Given the description of an element on the screen output the (x, y) to click on. 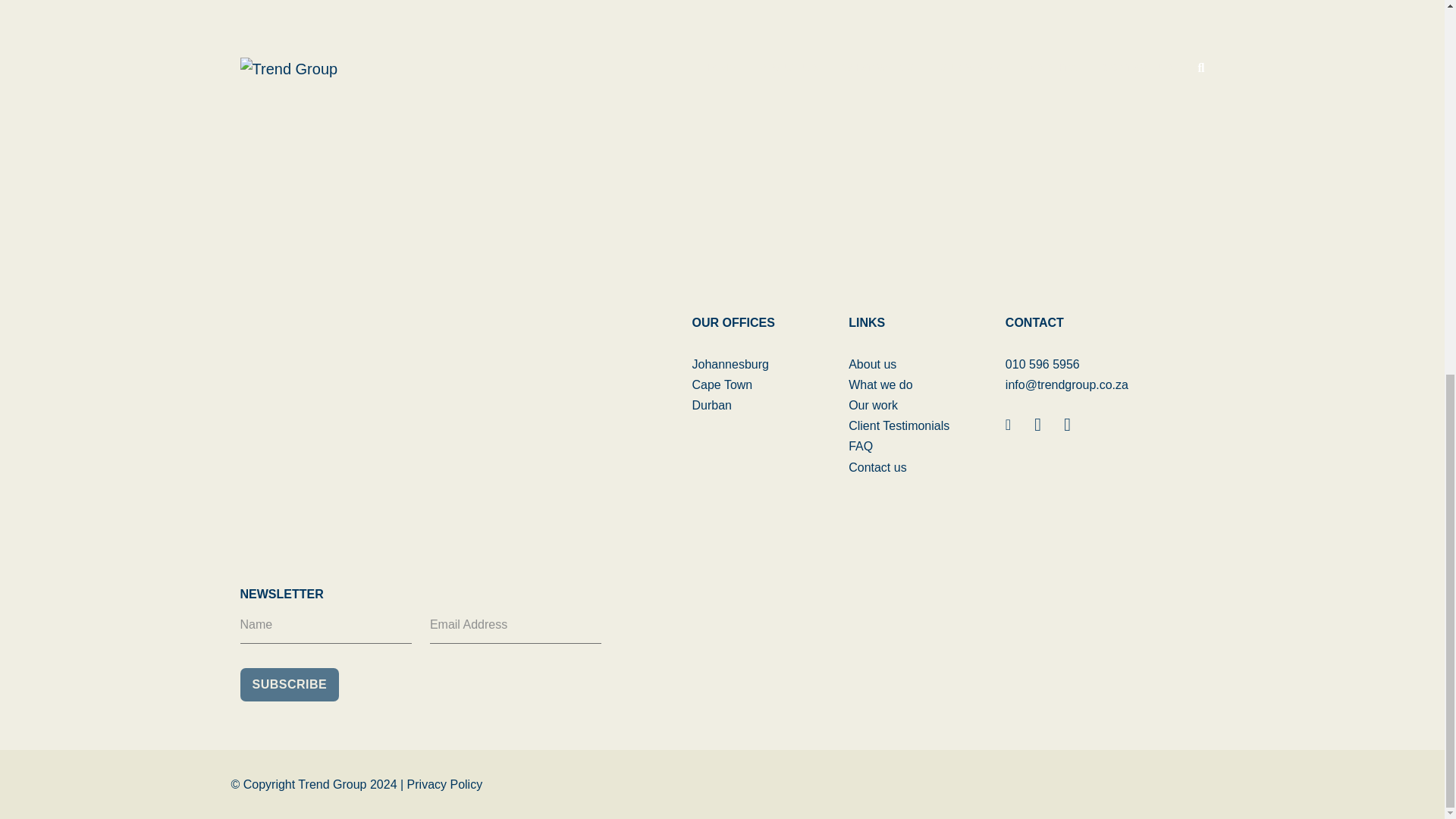
FAQ (860, 445)
About us (872, 364)
Cape Town (721, 384)
Johannesburg Office (729, 364)
Cape Town Office (721, 384)
Johannesburg (729, 364)
Client Testimonials (898, 425)
010 596 5956 (1043, 364)
Subscribe (289, 684)
Contact us (876, 467)
